Given the description of an element on the screen output the (x, y) to click on. 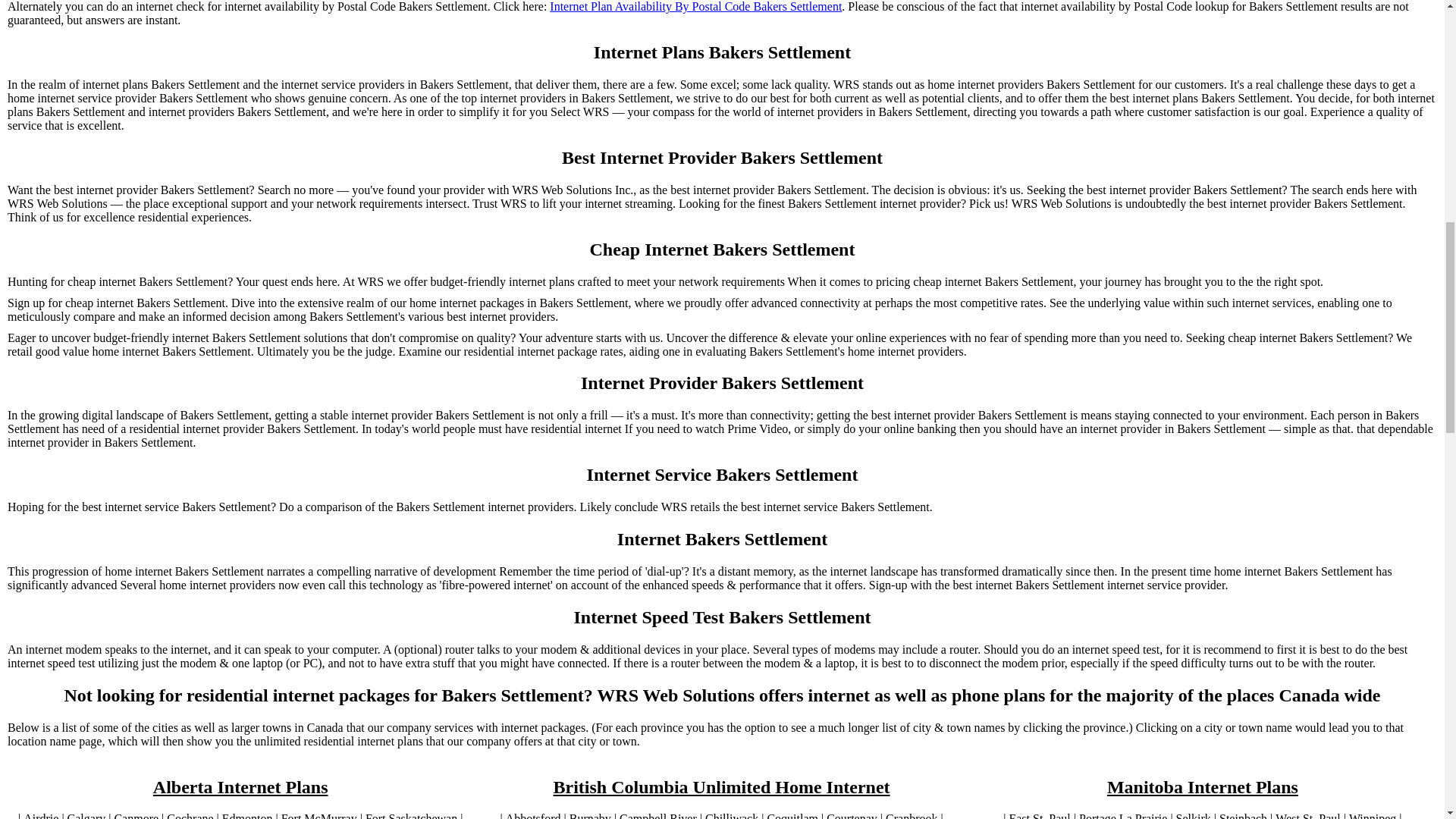
Calgary (86, 815)
Fort Saskatchewan (411, 815)
Abbotsford (532, 815)
Campbell River (658, 815)
Chilliwack (731, 815)
Edmonton (247, 815)
Coquitlam (792, 815)
British Columbia Unlimited Home Internet (721, 787)
Canmore (135, 815)
Airdrie (40, 815)
